Given the description of an element on the screen output the (x, y) to click on. 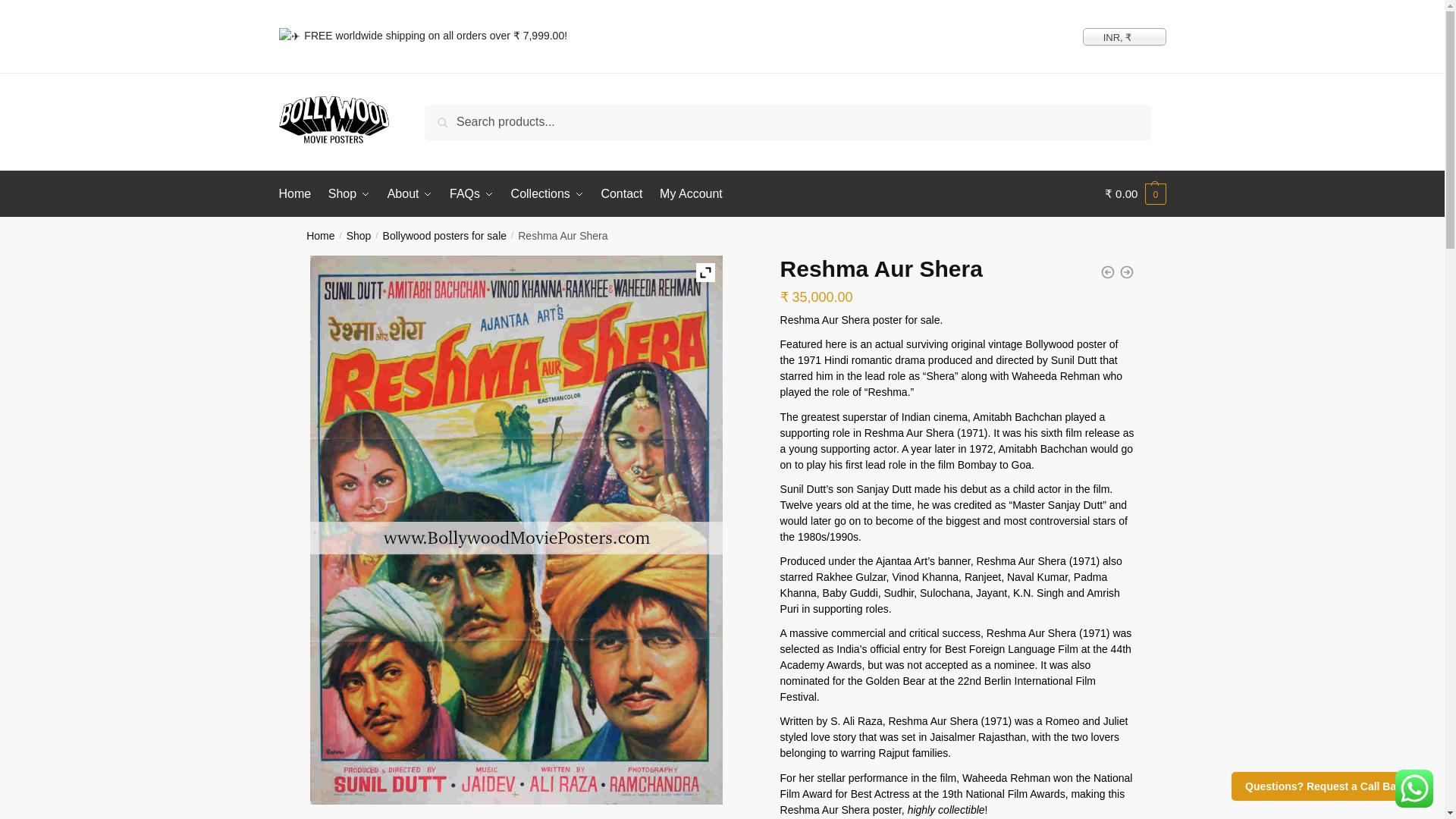
FAQs (471, 194)
About (409, 194)
View your shopping cart (1135, 194)
Search (449, 115)
Shop (349, 194)
Collections (547, 194)
